Given the description of an element on the screen output the (x, y) to click on. 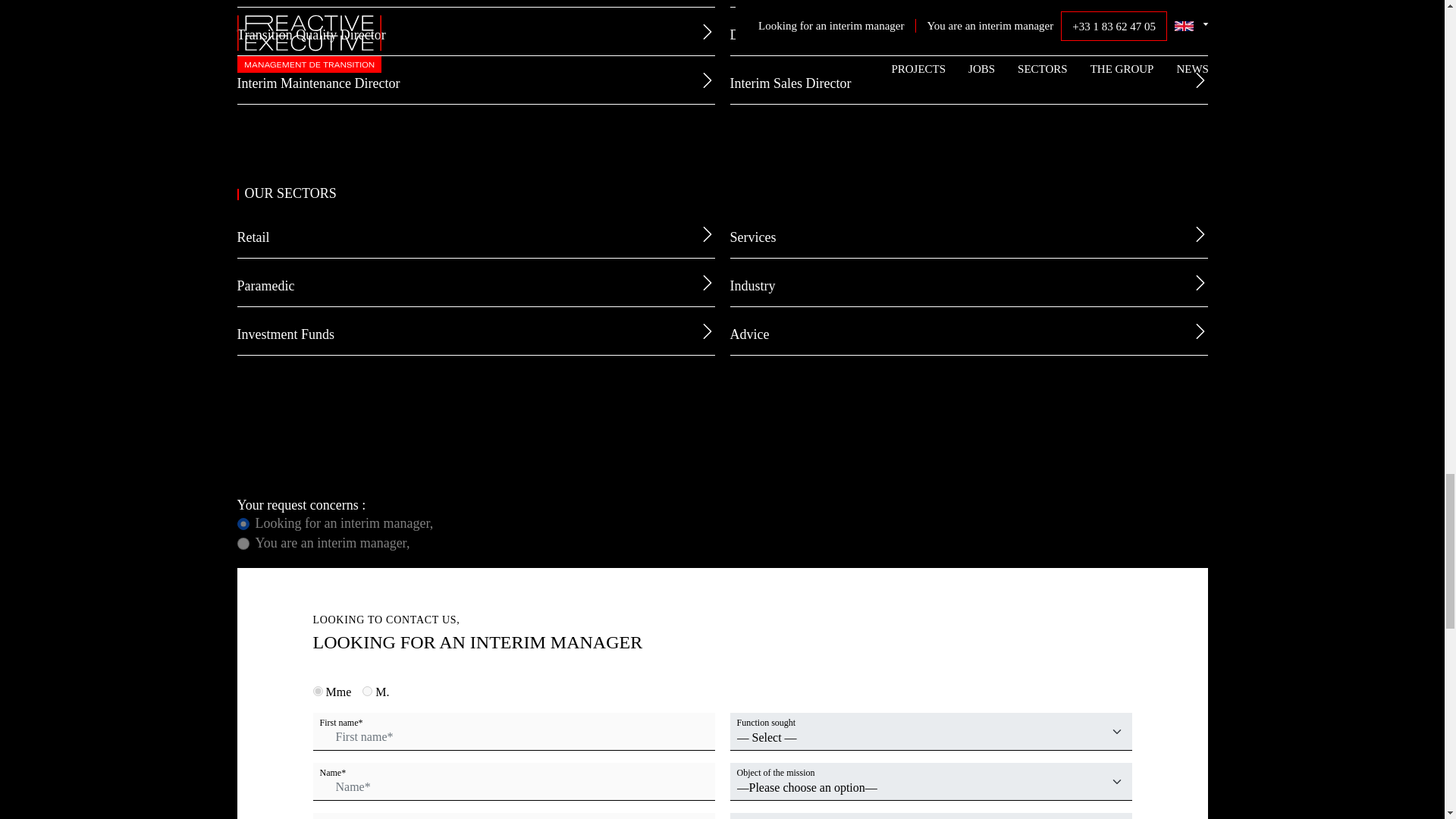
option1 (241, 523)
option2 (241, 543)
M. (367, 691)
Mme (317, 691)
